Given the description of an element on the screen output the (x, y) to click on. 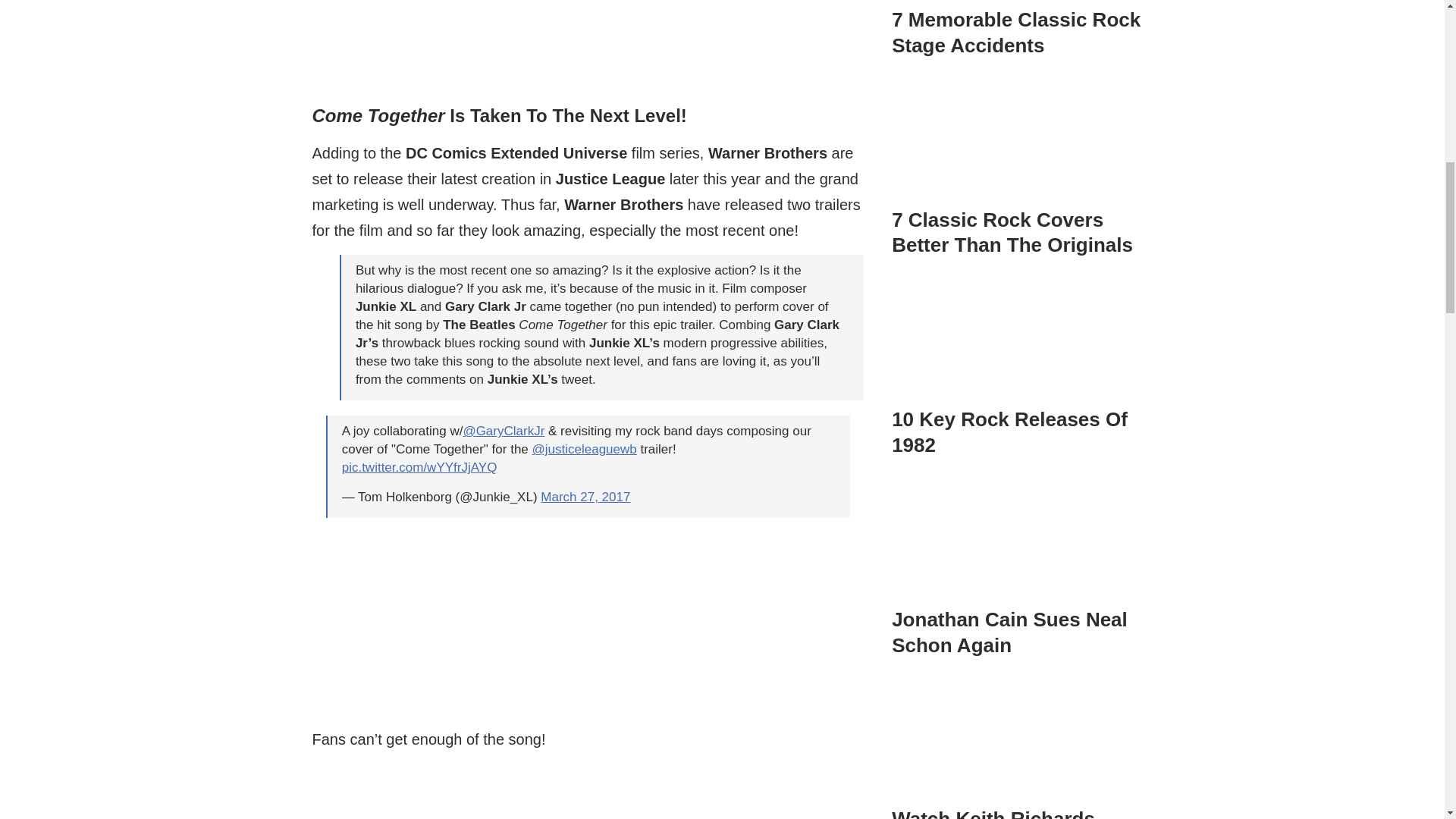
7 Classic Rock Covers Better Than the Originals (1019, 163)
7 Memorable Classic Rock Stage Accidents (1019, 15)
7 Classic Rock Covers Better Than the Originals (1019, 140)
7 Memorable Classic Rock Stage Accidents (1015, 32)
